Given the description of an element on the screen output the (x, y) to click on. 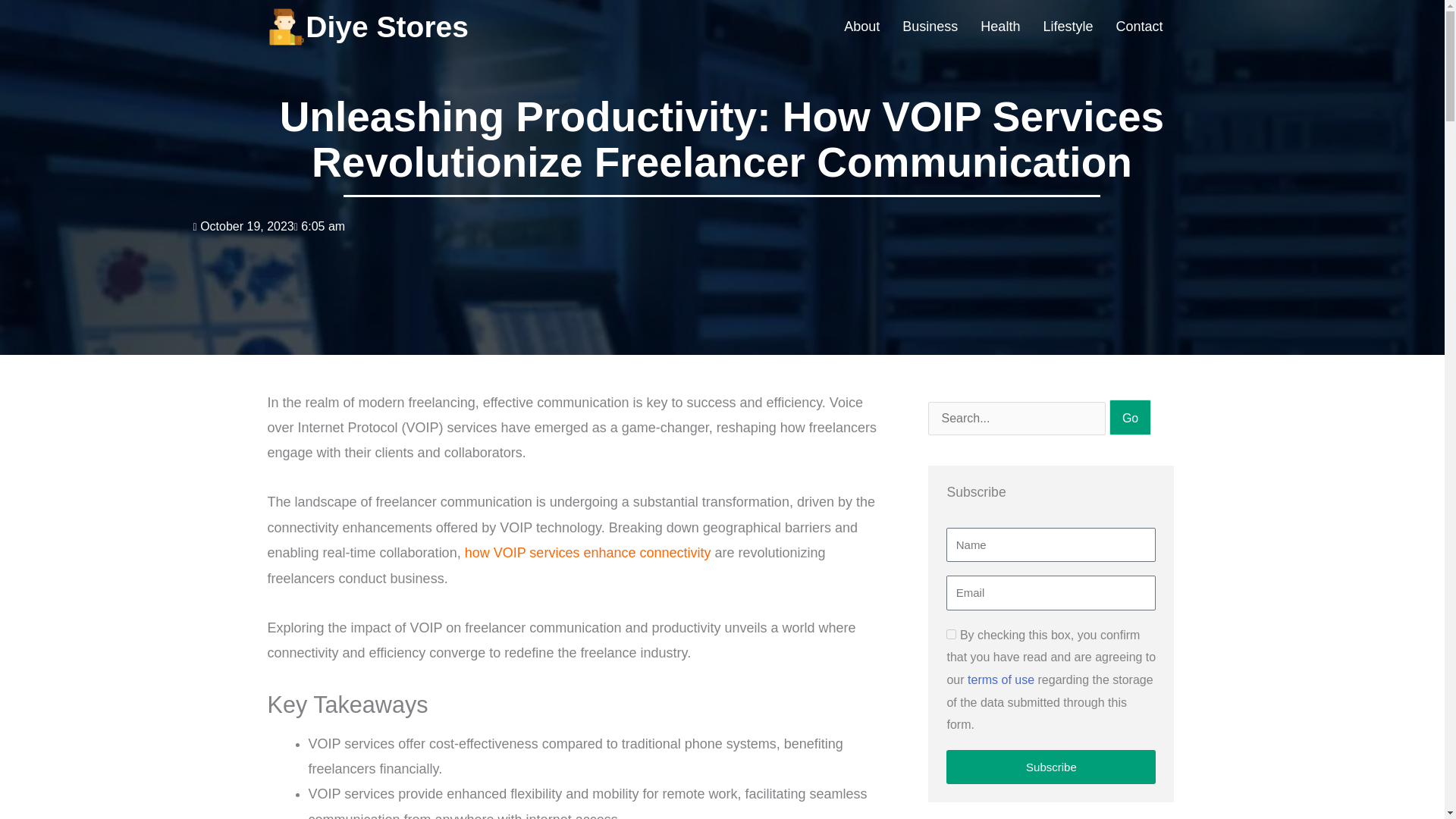
on (951, 634)
Contact (1138, 26)
Business (930, 26)
Lifestyle (1066, 26)
Go (1130, 417)
Subscribe (1051, 766)
About (861, 26)
Health (999, 26)
October 19, 2023 (243, 226)
terms of use (1000, 679)
